Given the description of an element on the screen output the (x, y) to click on. 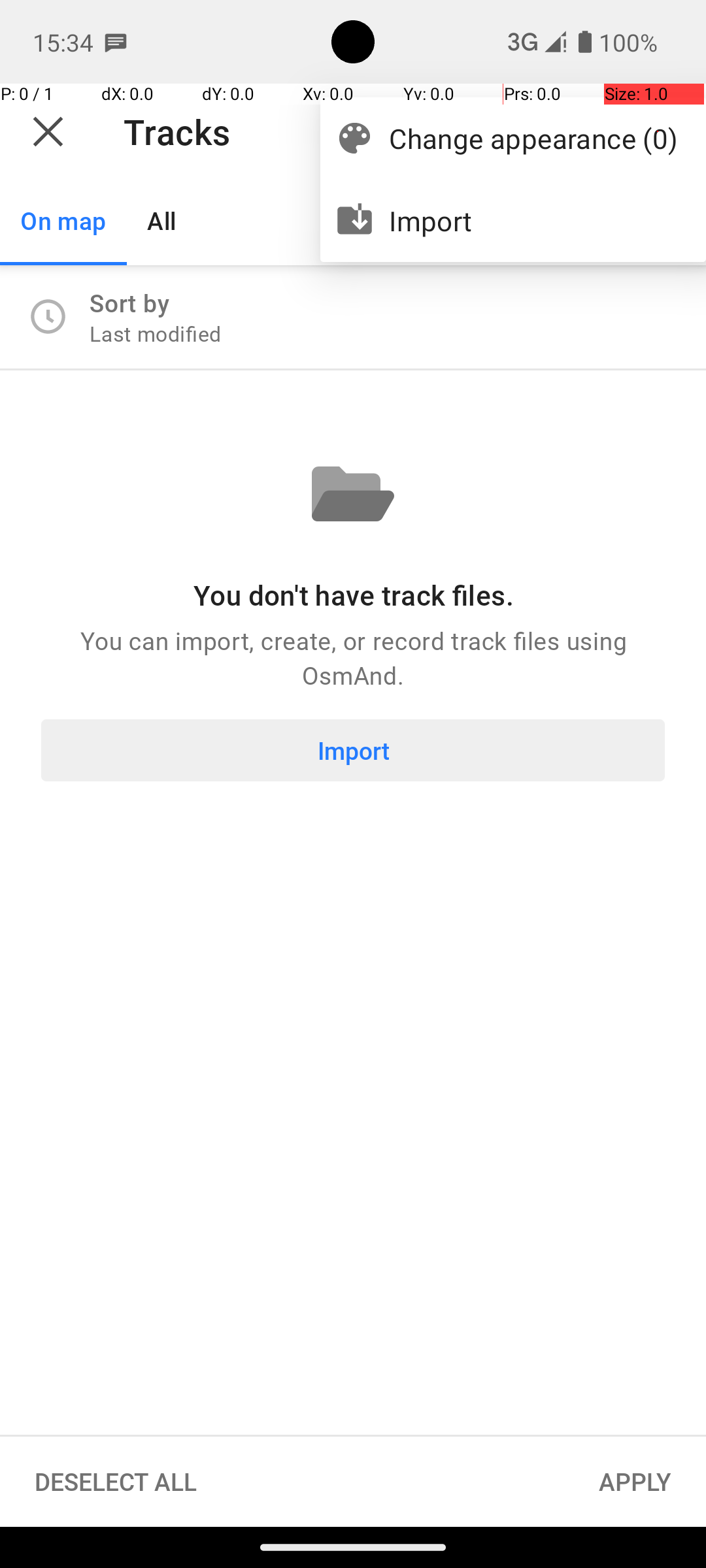
Change appearance (0) Element type: android.widget.TextView (533, 137)
Import Element type: android.widget.TextView (533, 220)
